Given the description of an element on the screen output the (x, y) to click on. 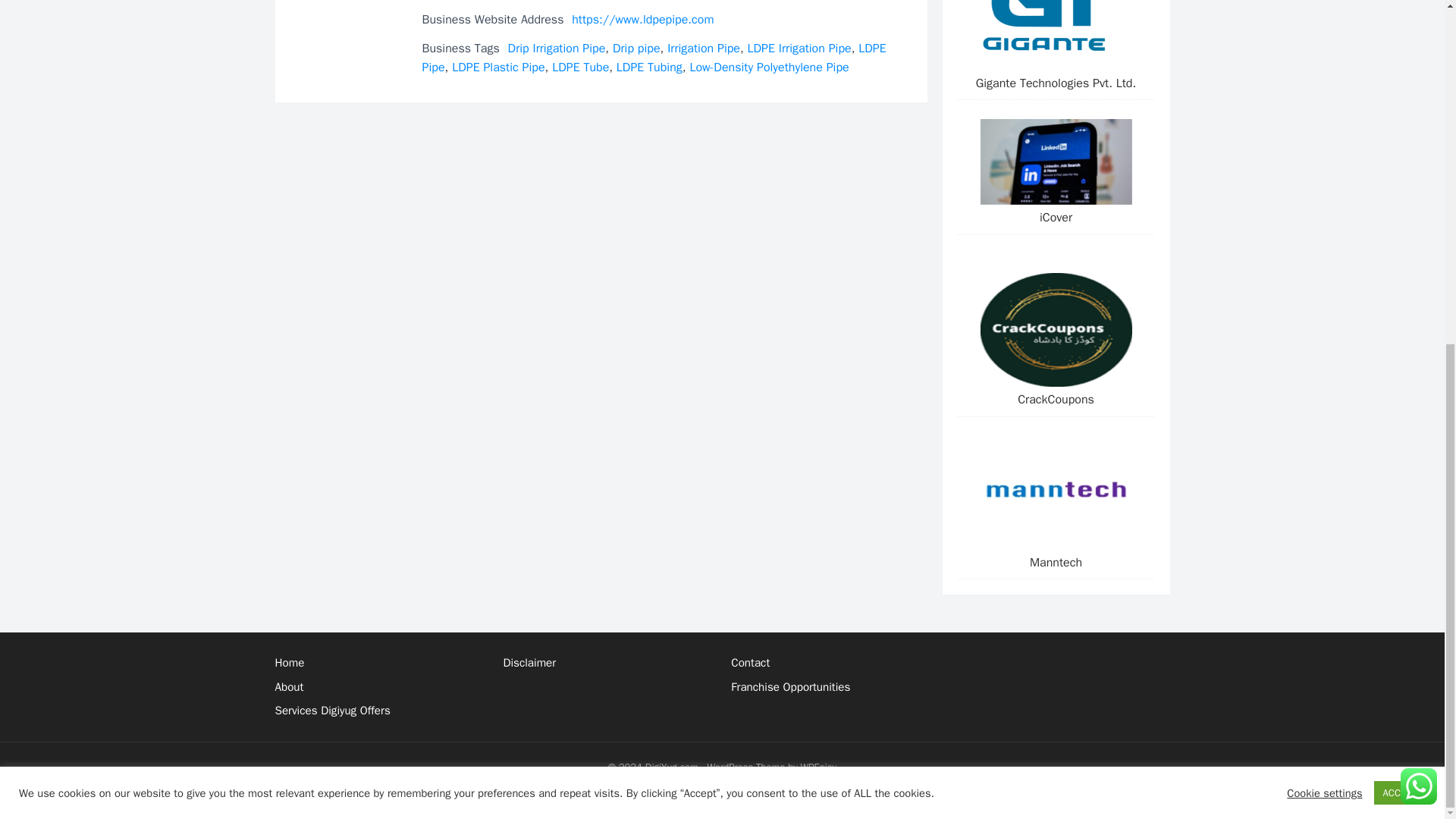
Drip Irrigation Pipe (556, 48)
LDPE Tubing (648, 67)
Irrigation Pipe (702, 48)
LDPE Tube (579, 67)
Low-Density Polyethylene Pipe (768, 67)
LDPE Pipe (653, 58)
Drip pipe (636, 48)
LDPE Plastic Pipe (497, 67)
LDPE Irrigation Pipe (799, 48)
